Given the description of an element on the screen output the (x, y) to click on. 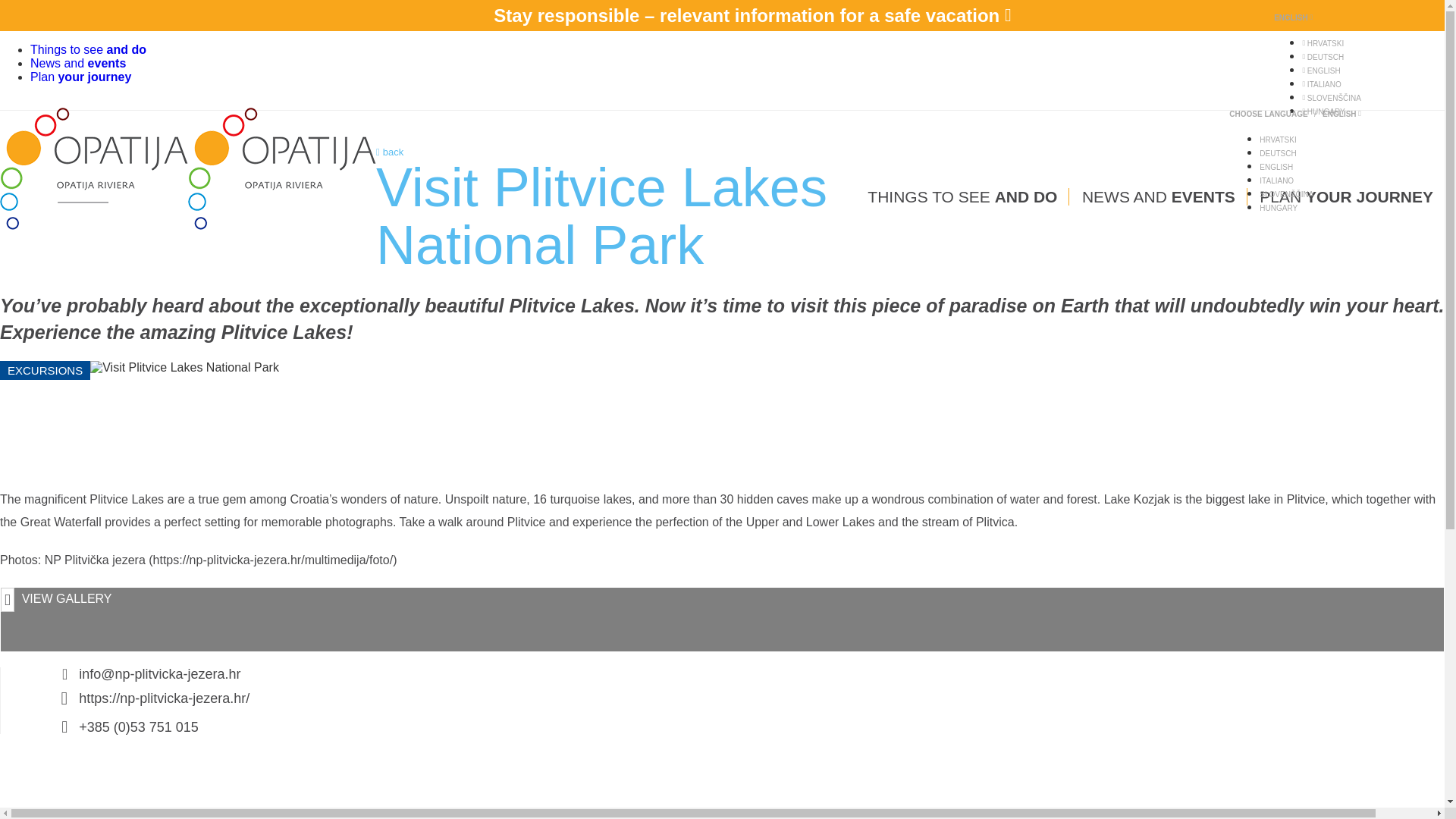
ENGLISH (1320, 70)
ENGLISH (1292, 17)
DEUTSCH (1322, 57)
Plan your journey (80, 76)
ITALIANO (1320, 84)
HRVATSKI (1322, 43)
Things to see and do (88, 49)
News and events (77, 62)
HUNGARY (1322, 111)
